Given the description of an element on the screen output the (x, y) to click on. 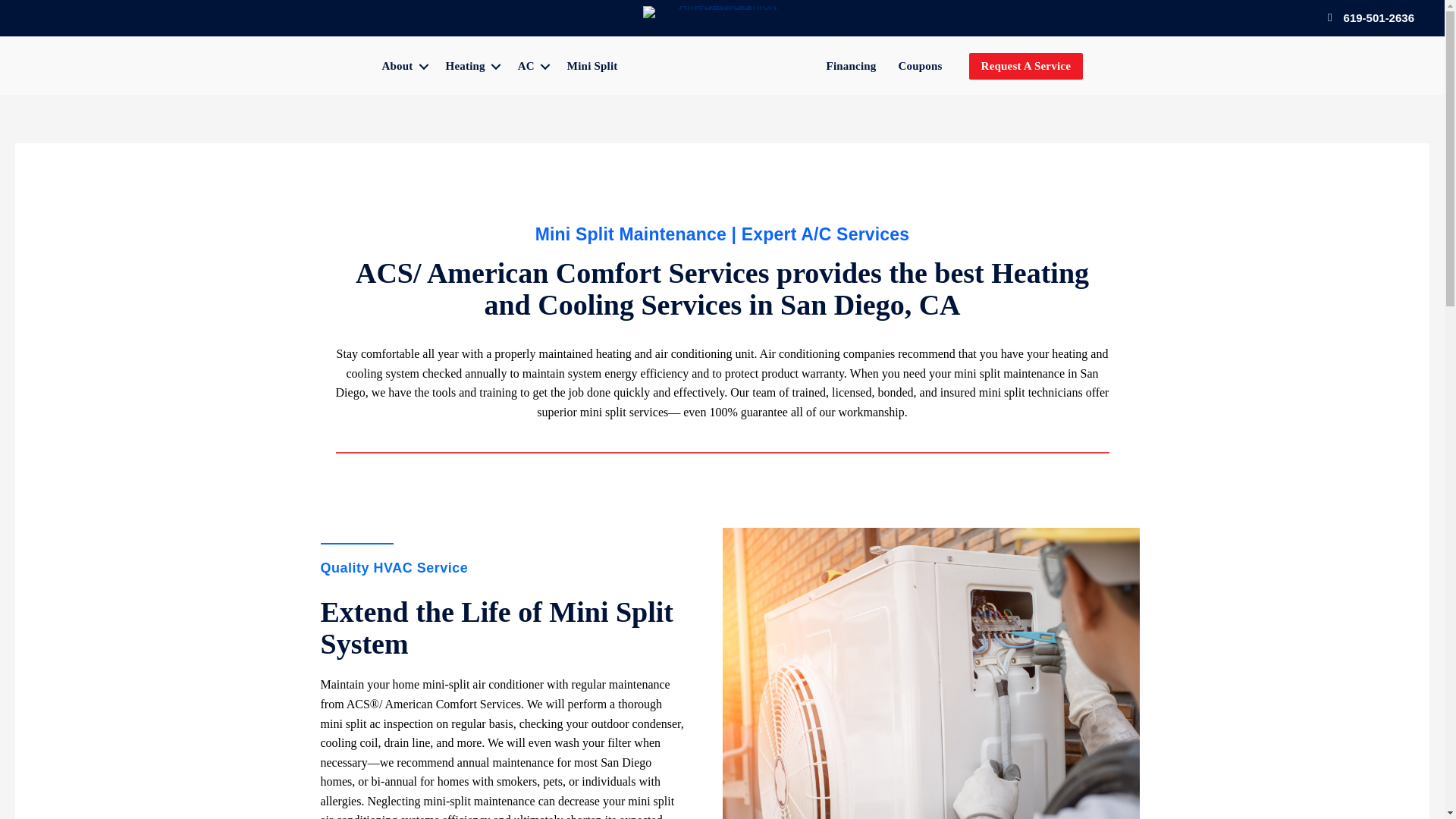
Financing (850, 65)
619-501-2636 (1378, 17)
About (402, 65)
AC (531, 65)
Request A Service (1026, 66)
Mini Split (592, 65)
Coupons (919, 65)
Heating (470, 65)
